Given the description of an element on the screen output the (x, y) to click on. 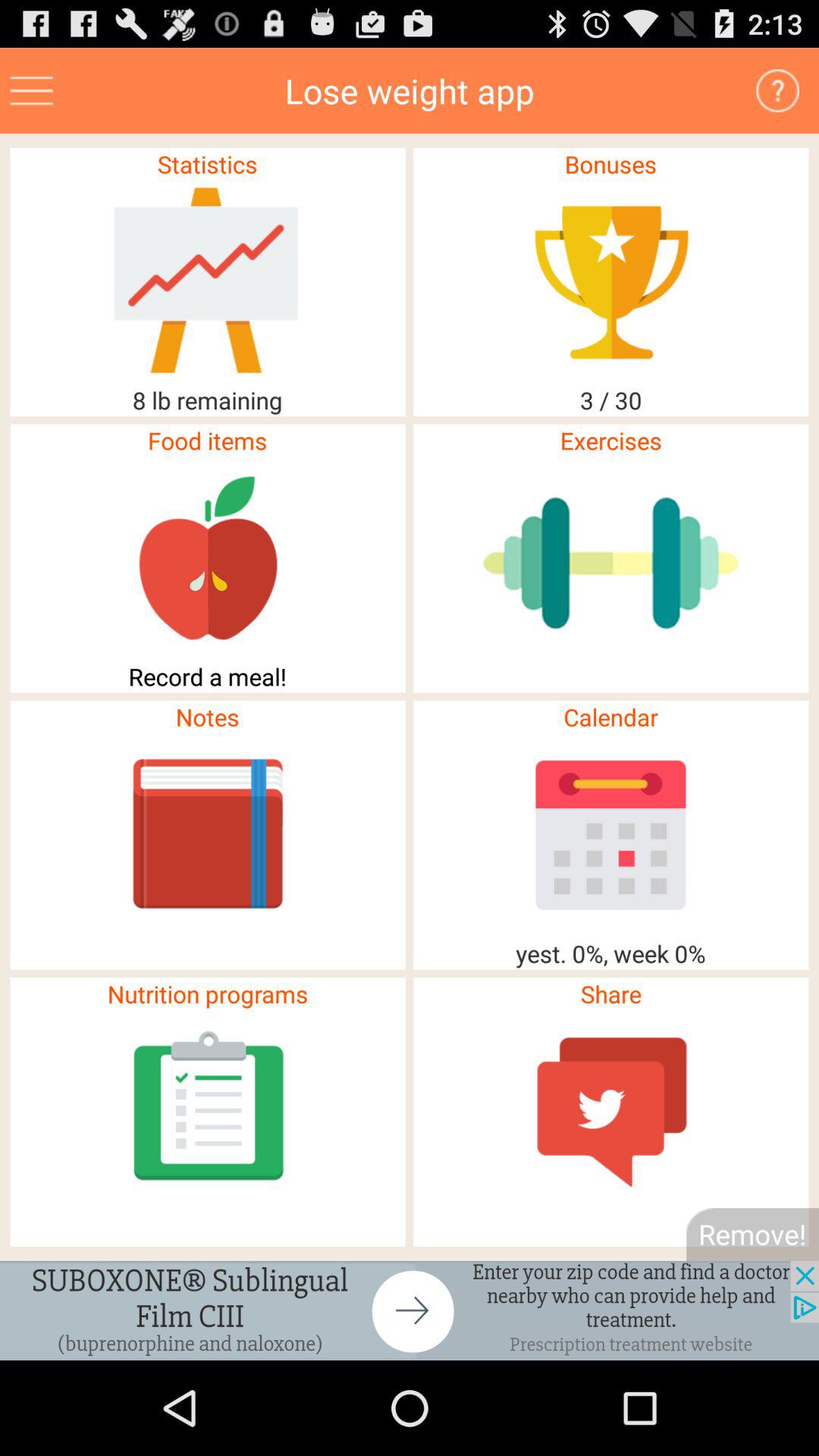
menu icon (31, 90)
